Given the description of an element on the screen output the (x, y) to click on. 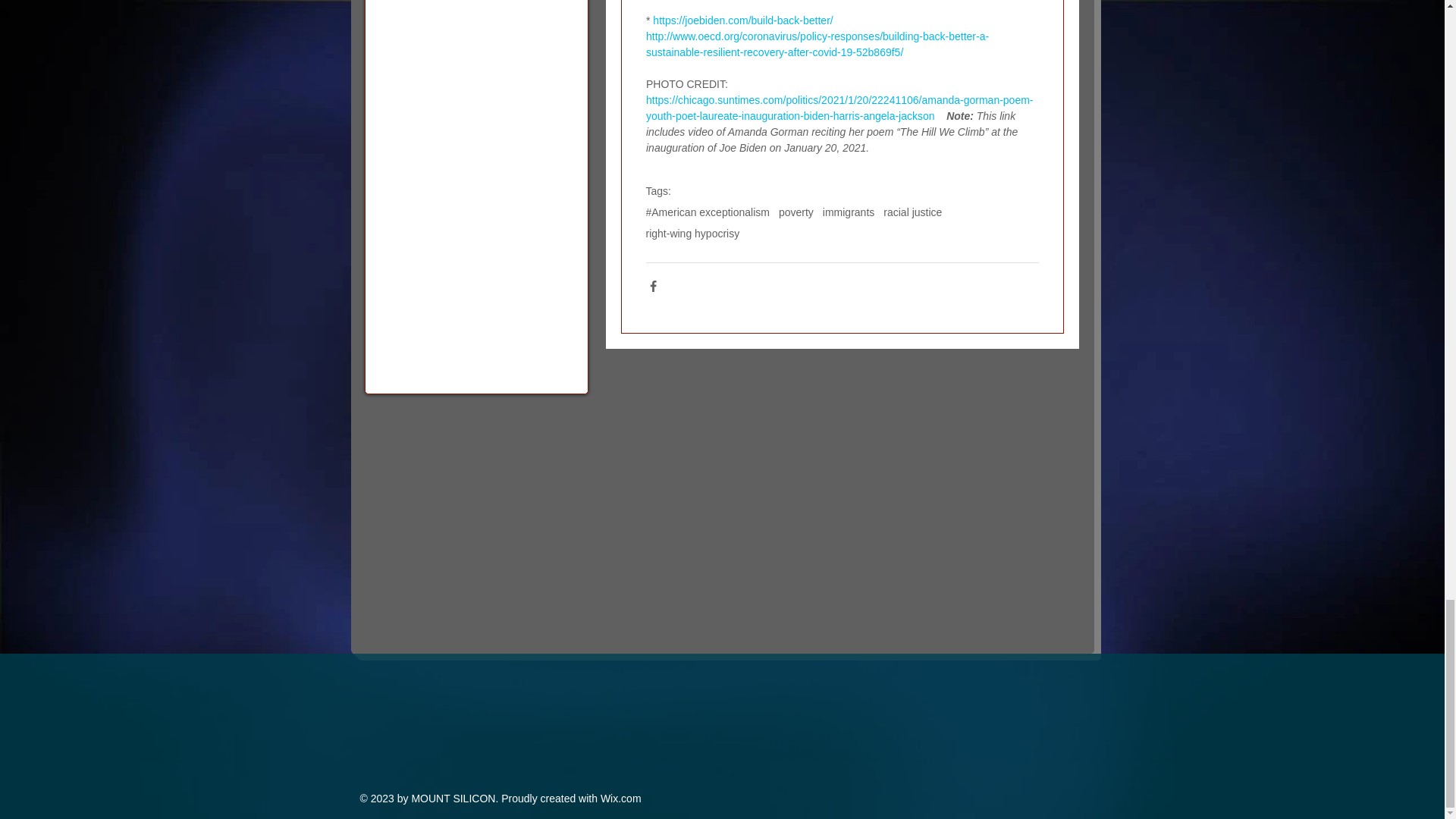
poverty (795, 212)
right-wing hypocrisy (692, 233)
Wix.com (620, 798)
racial justice (912, 212)
immigrants (848, 212)
